Given the description of an element on the screen output the (x, y) to click on. 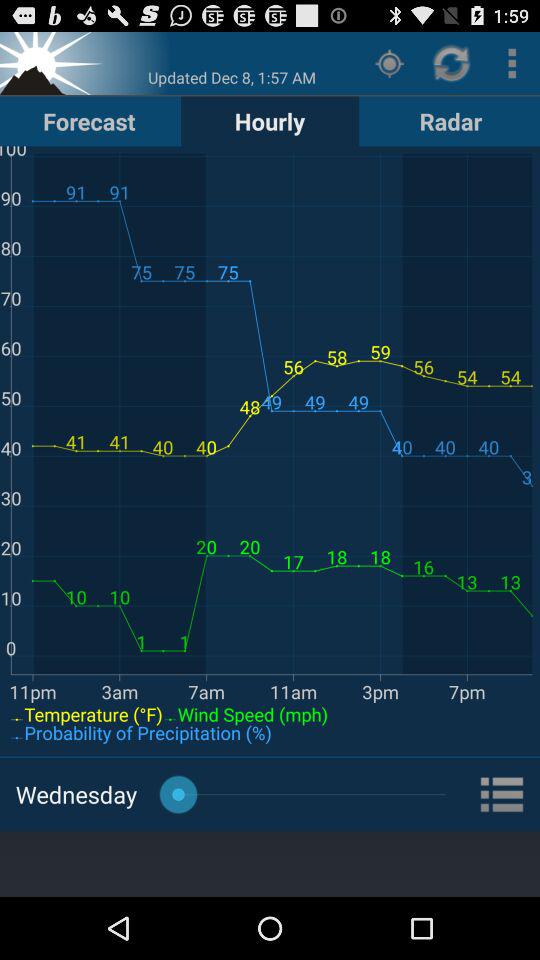
click forecast (89, 120)
